Given the description of an element on the screen output the (x, y) to click on. 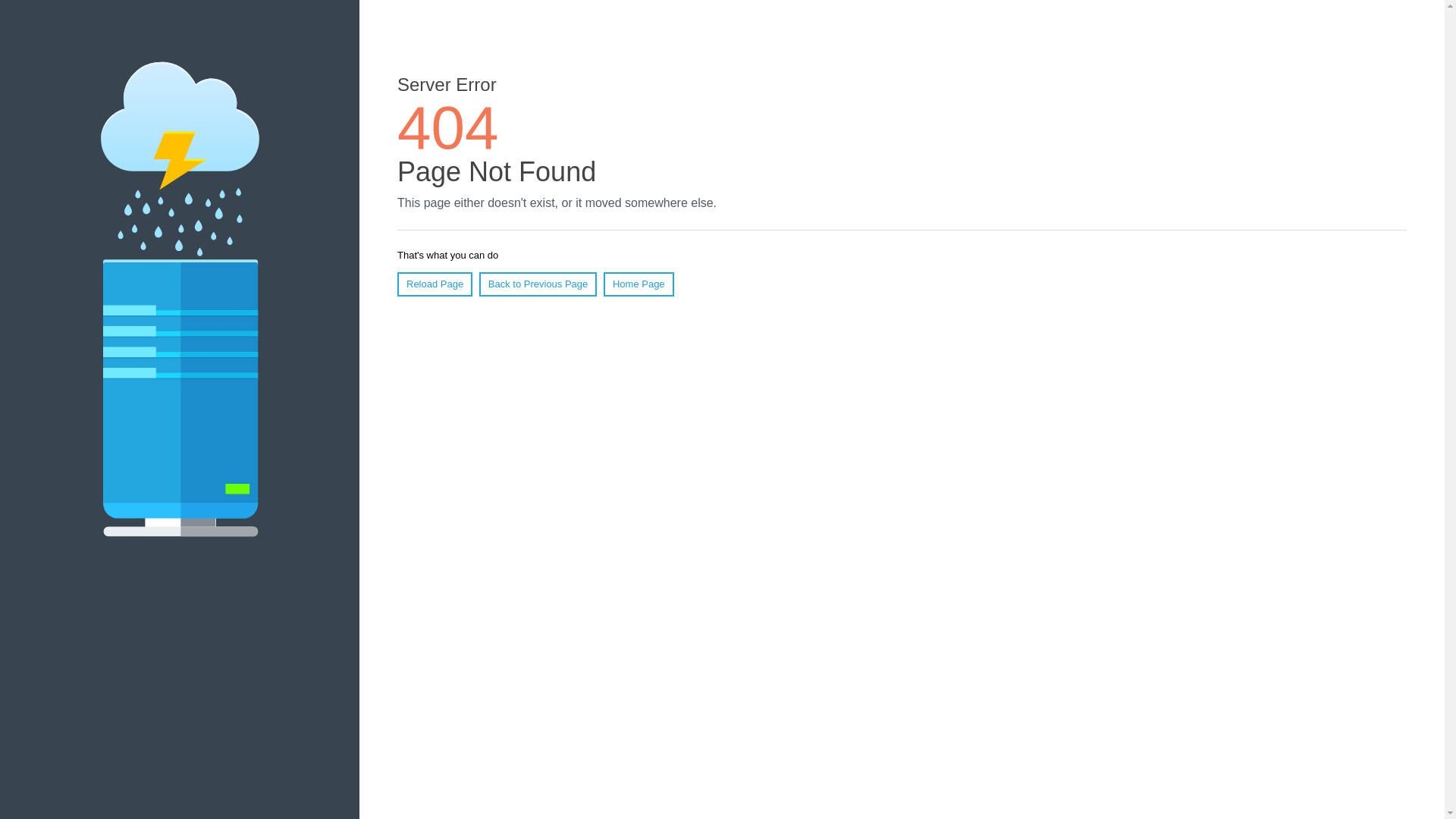
Reload Page Element type: text (434, 284)
Home Page Element type: text (638, 284)
Back to Previous Page Element type: text (538, 284)
